Given the description of an element on the screen output the (x, y) to click on. 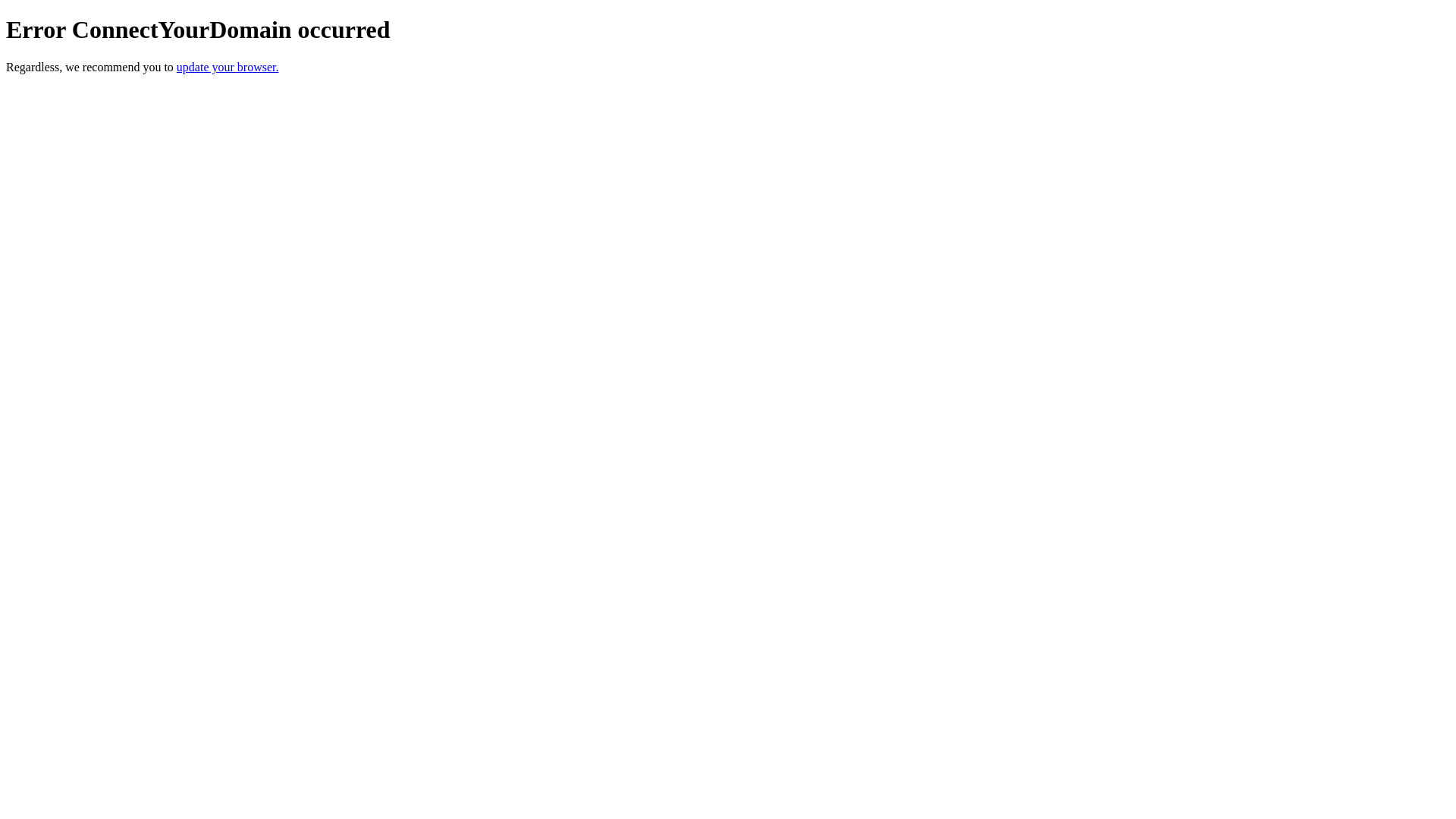
update your browser. Element type: text (227, 66)
